Given the description of an element on the screen output the (x, y) to click on. 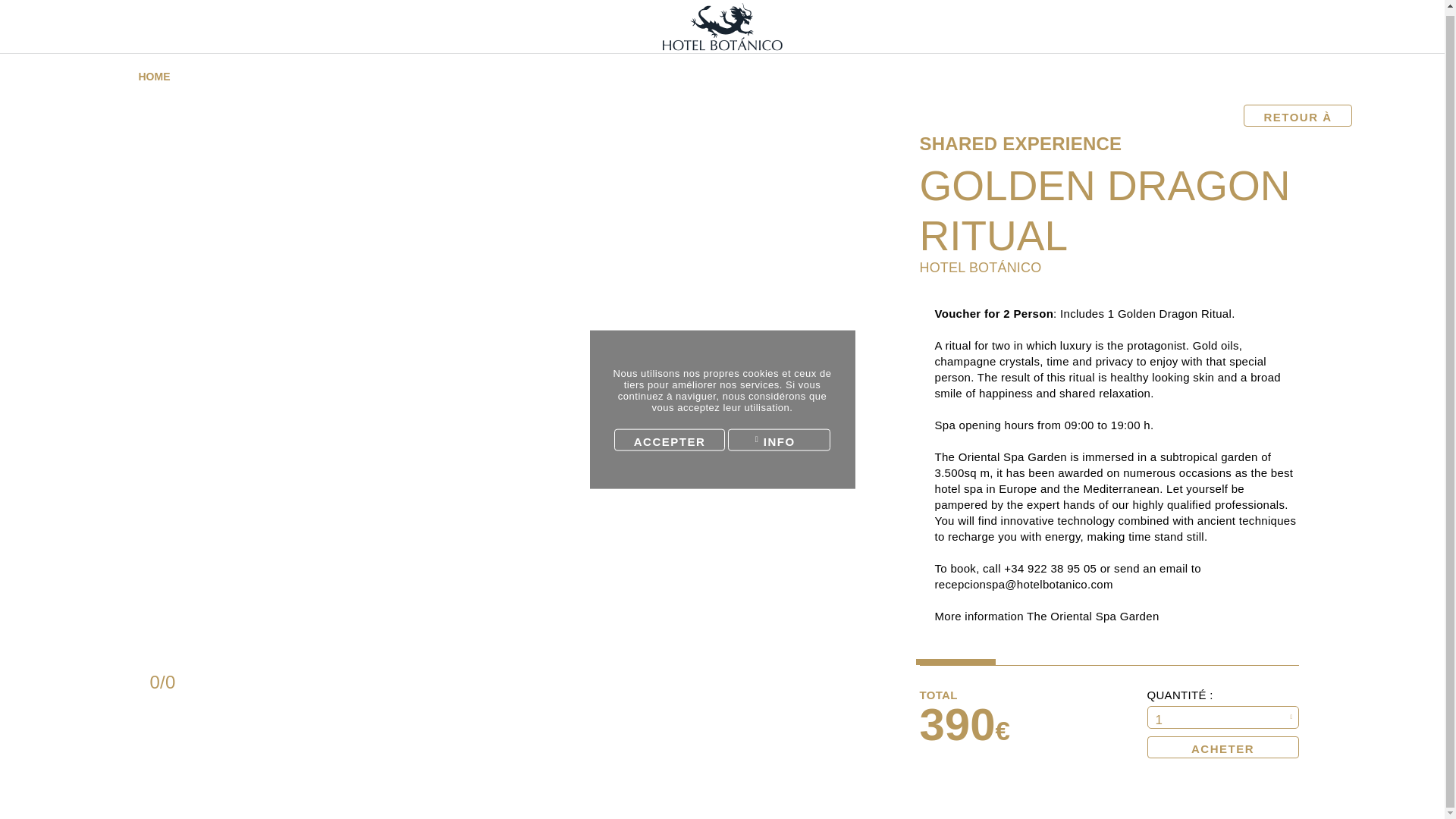
INFO (778, 434)
ACHETER (1222, 747)
HOME (159, 76)
More information The Oriental Spa Garden (1046, 615)
